Given the description of an element on the screen output the (x, y) to click on. 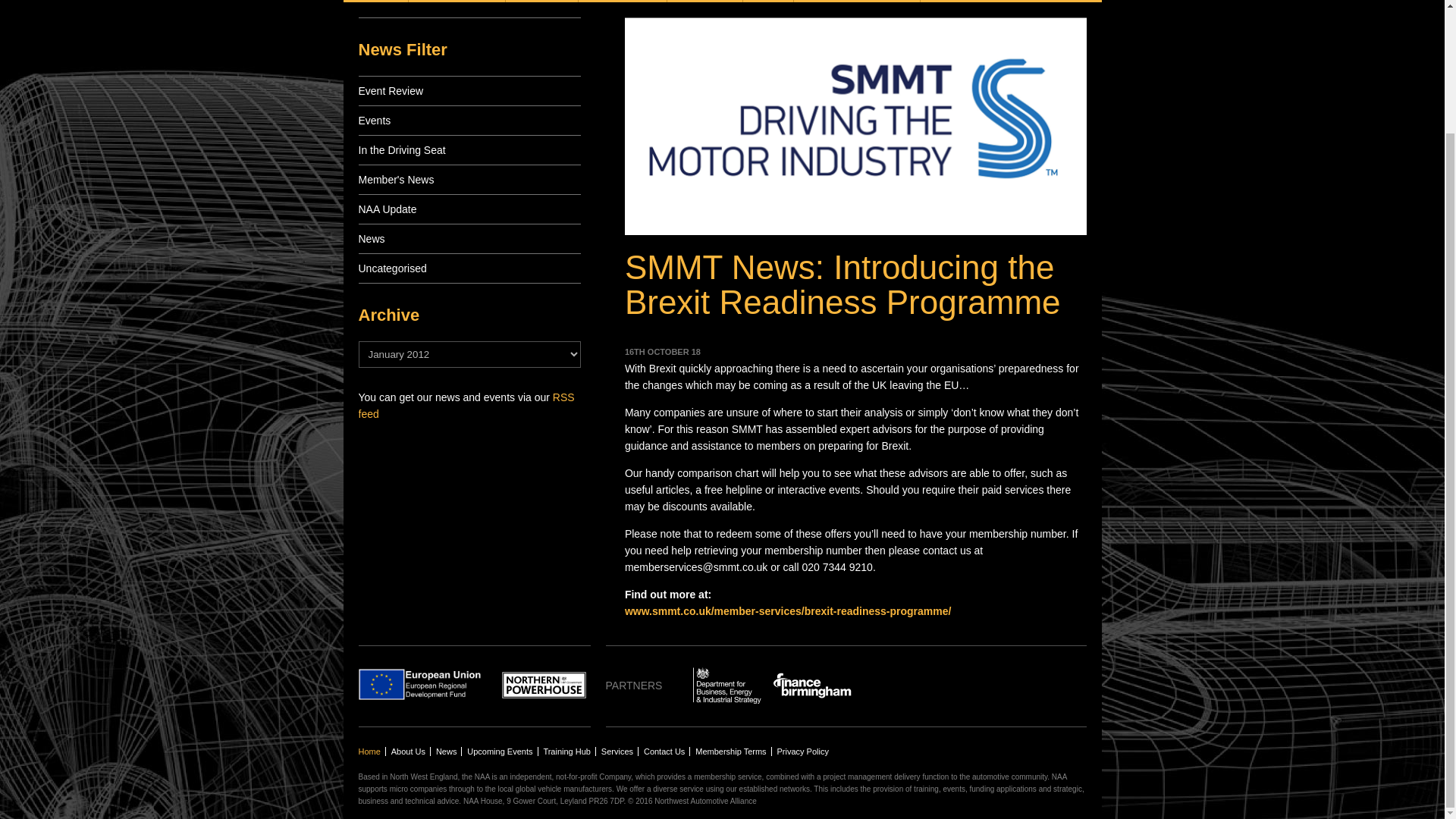
PROJECTS (704, 1)
SERVICES (541, 1)
